Given the description of an element on the screen output the (x, y) to click on. 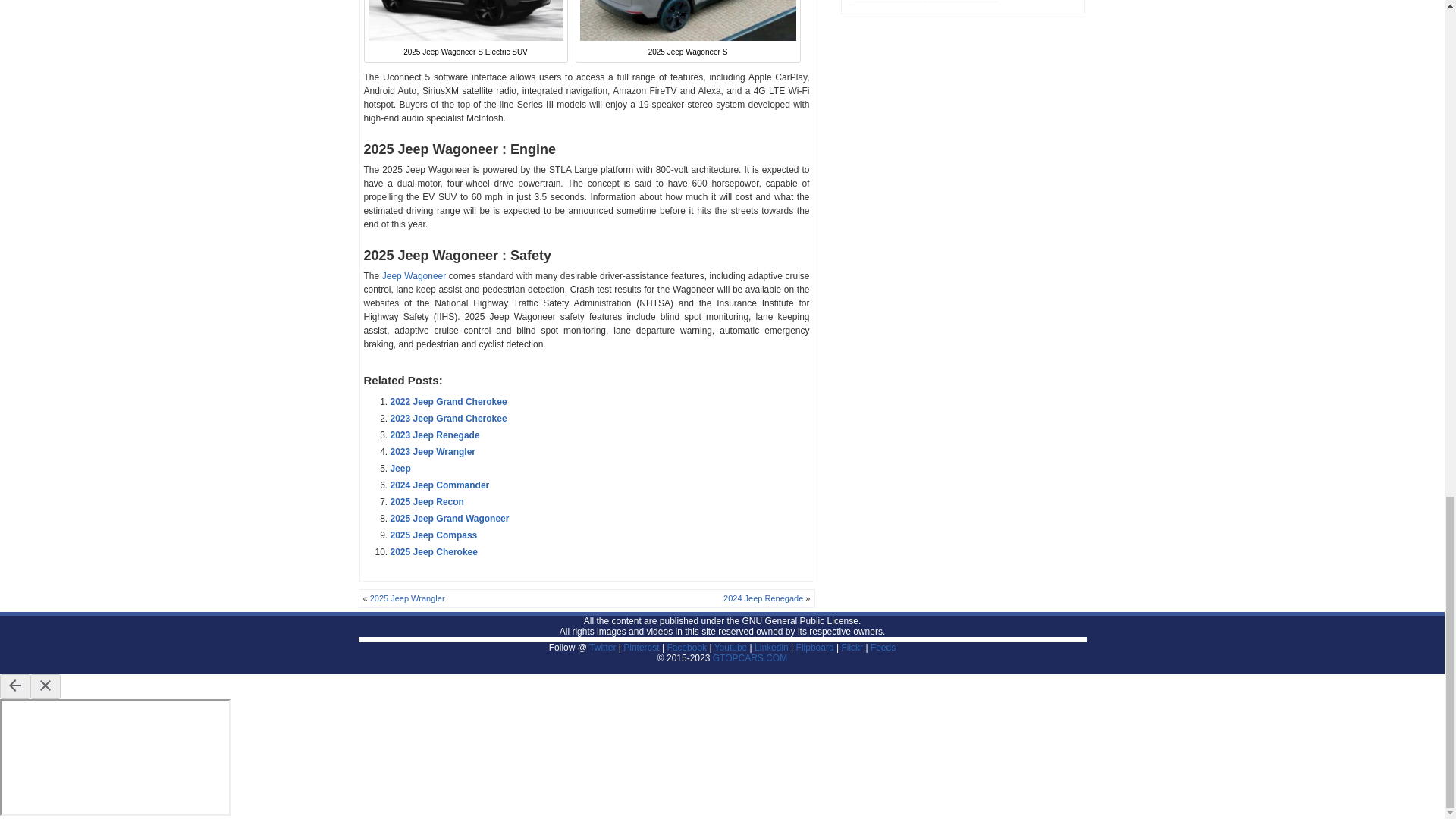
2023 Jeep Renegade (434, 434)
2023 Jeep Grand Cherokee (448, 418)
Jeep Wagoneer (413, 276)
2023 Jeep Wrangler (433, 451)
2022 Jeep Grand Cherokee (448, 401)
